Given the description of an element on the screen output the (x, y) to click on. 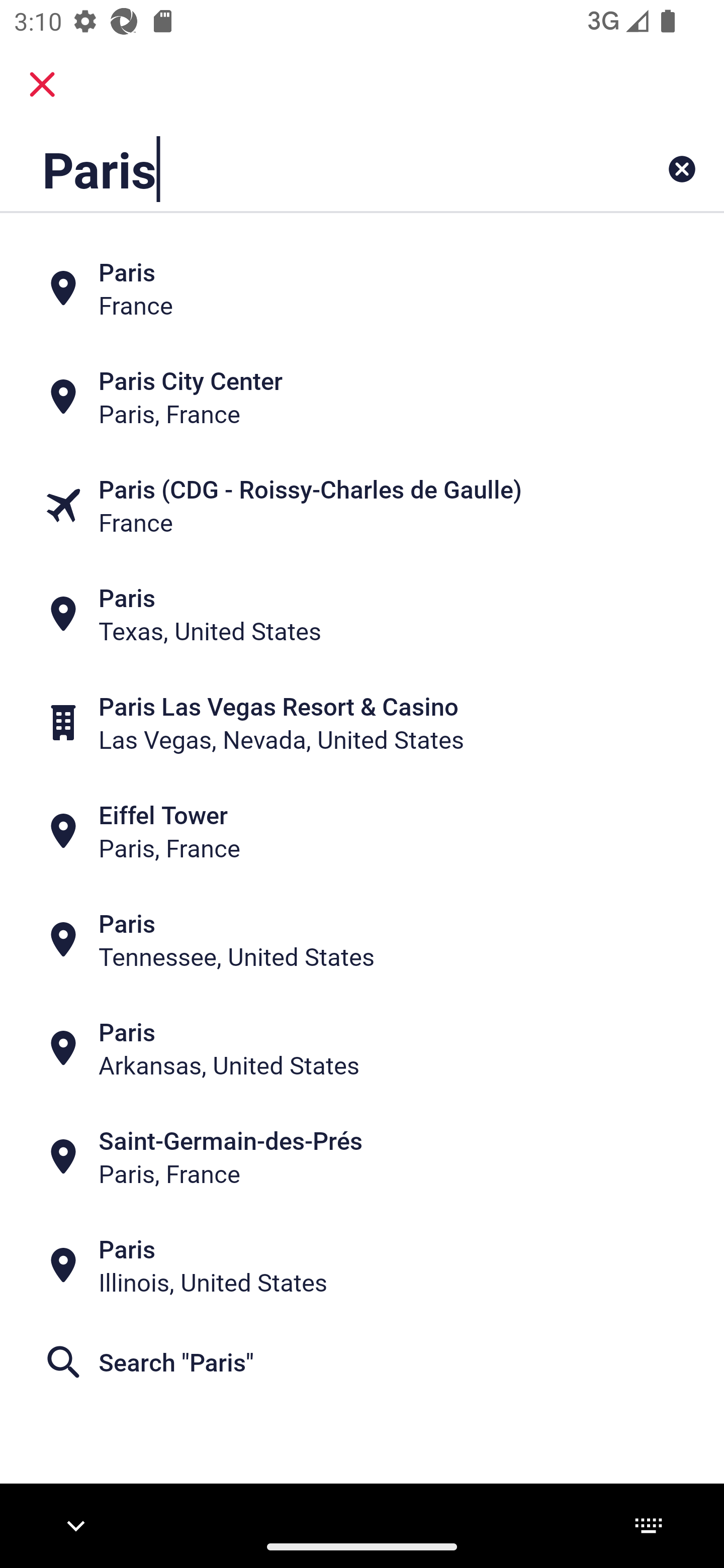
close. (42, 84)
Clear (681, 169)
Paris (298, 169)
Paris France (362, 288)
Paris City Center Paris, France (362, 397)
Paris (CDG - Roissy-Charles de Gaulle) France (362, 505)
Paris Texas, United States (362, 613)
Eiffel Tower Paris, France (362, 831)
Paris Tennessee, United States (362, 939)
Paris Arkansas, United States (362, 1048)
Saint-Germain-des-Prés Paris, France (362, 1156)
Paris Illinois, United States (362, 1265)
Search "Paris" (362, 1362)
